Given the description of an element on the screen output the (x, y) to click on. 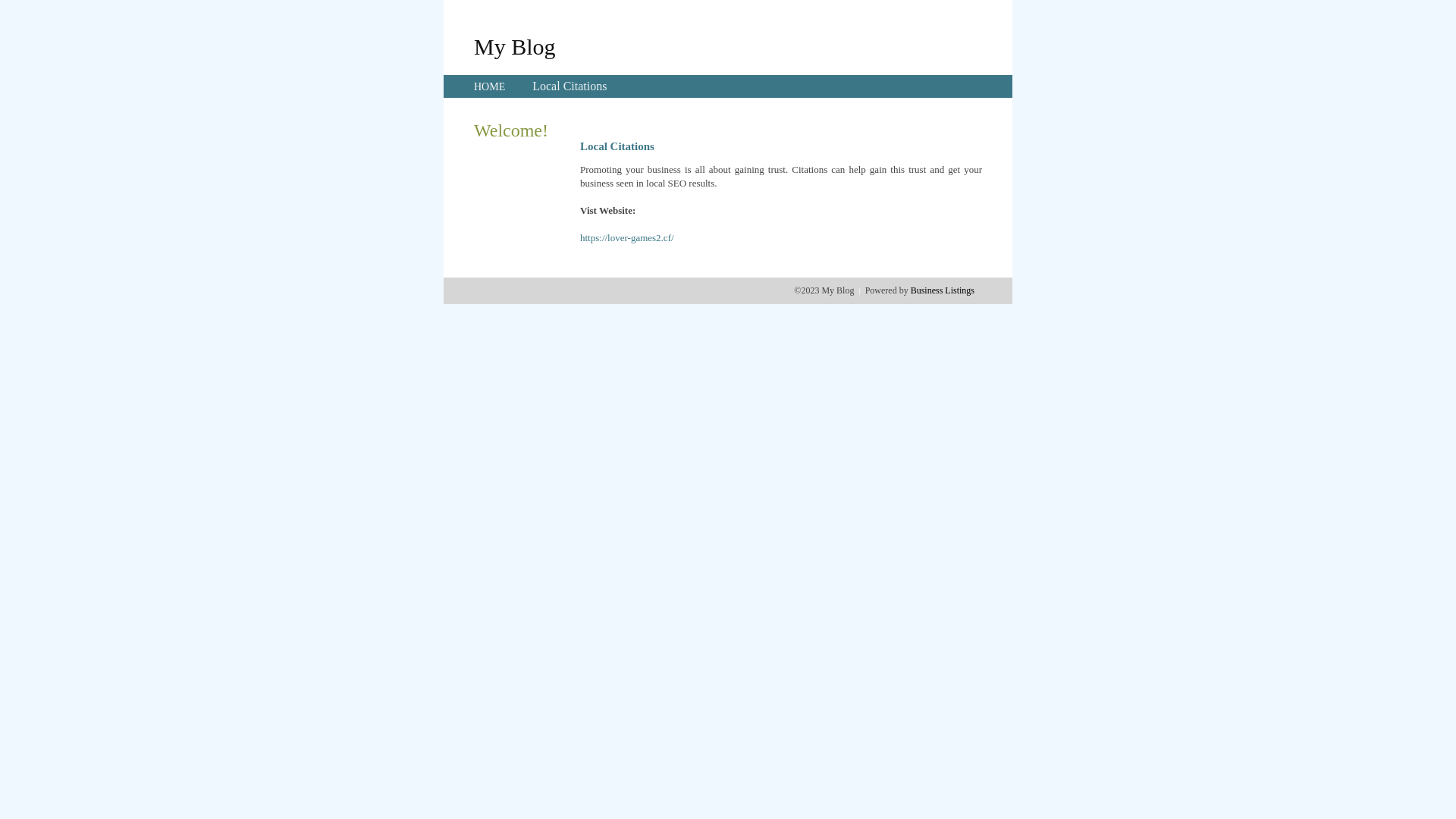
My Blog Element type: text (514, 46)
HOME Element type: text (489, 86)
Business Listings Element type: text (942, 290)
https://lover-games2.cf/ Element type: text (627, 237)
Local Citations Element type: text (569, 85)
